Given the description of an element on the screen output the (x, y) to click on. 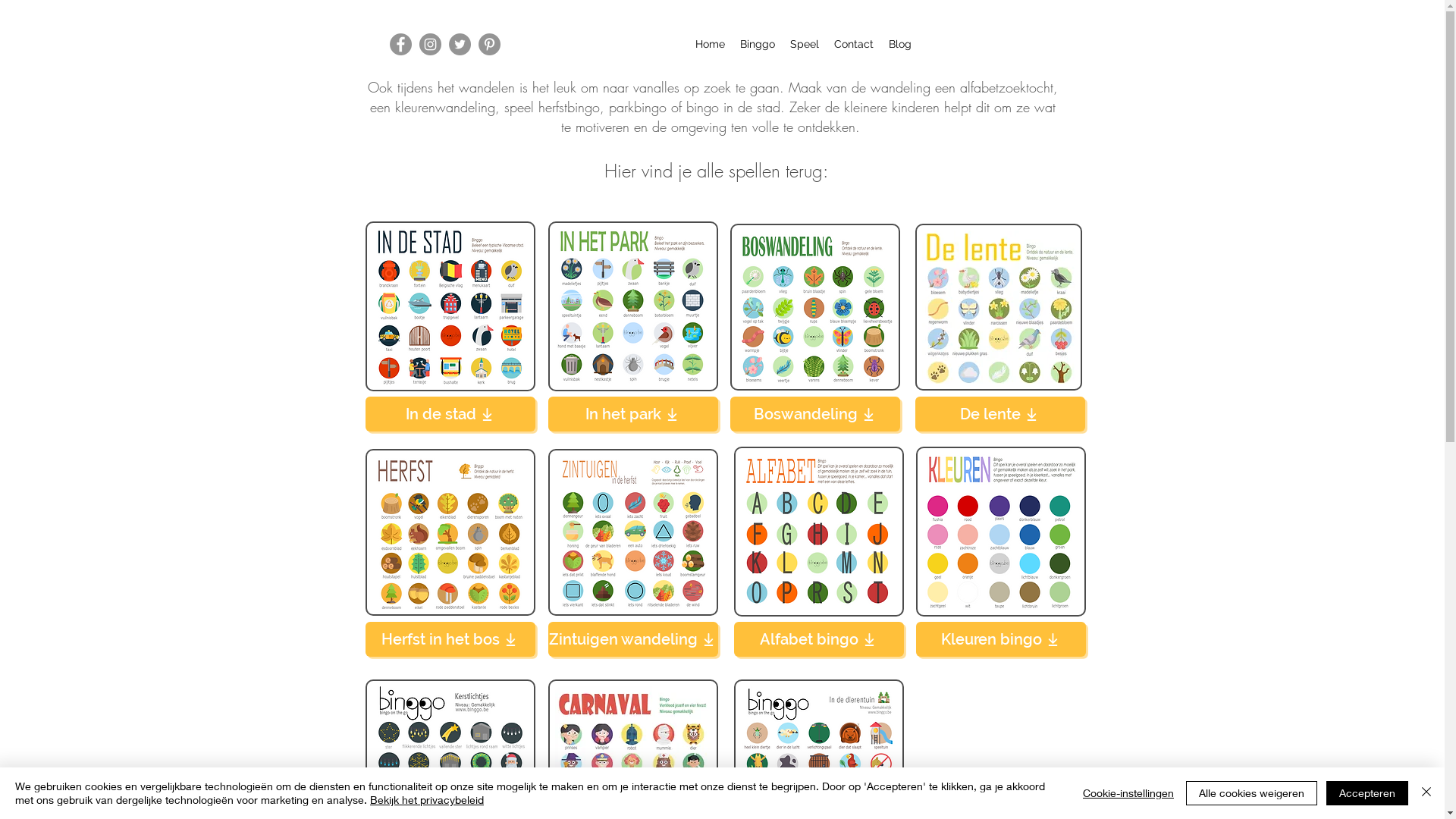
Blog Element type: text (900, 43)
De lente Element type: text (999, 413)
Alle cookies weigeren Element type: text (1251, 793)
Beleef het park en zijn bezoekers Element type: hover (632, 306)
Speel bingo bij je bezoek aan de dierentuin Element type: hover (632, 531)
Speel bingo in elnte: dieren, planten, bloemen.. Element type: hover (997, 306)
Home Element type: text (709, 43)
Accepteren Element type: text (1367, 793)
Zintuigen wandeling Element type: text (632, 638)
Boswandeling Element type: text (814, 413)
ontdek planten en dieren tijdens een boswandeling Element type: hover (814, 306)
In het park Element type: text (632, 413)
Contact Element type: text (853, 43)
Speel Element type: text (804, 43)
In de stad Element type: text (450, 413)
Bekijk het privacybeleid Element type: text (426, 799)
Herfst in het bos Element type: text (450, 638)
Binggo Element type: text (757, 43)
Alfabet bingo Element type: text (818, 638)
Kleuren bingo Element type: text (1000, 638)
